Given the description of an element on the screen output the (x, y) to click on. 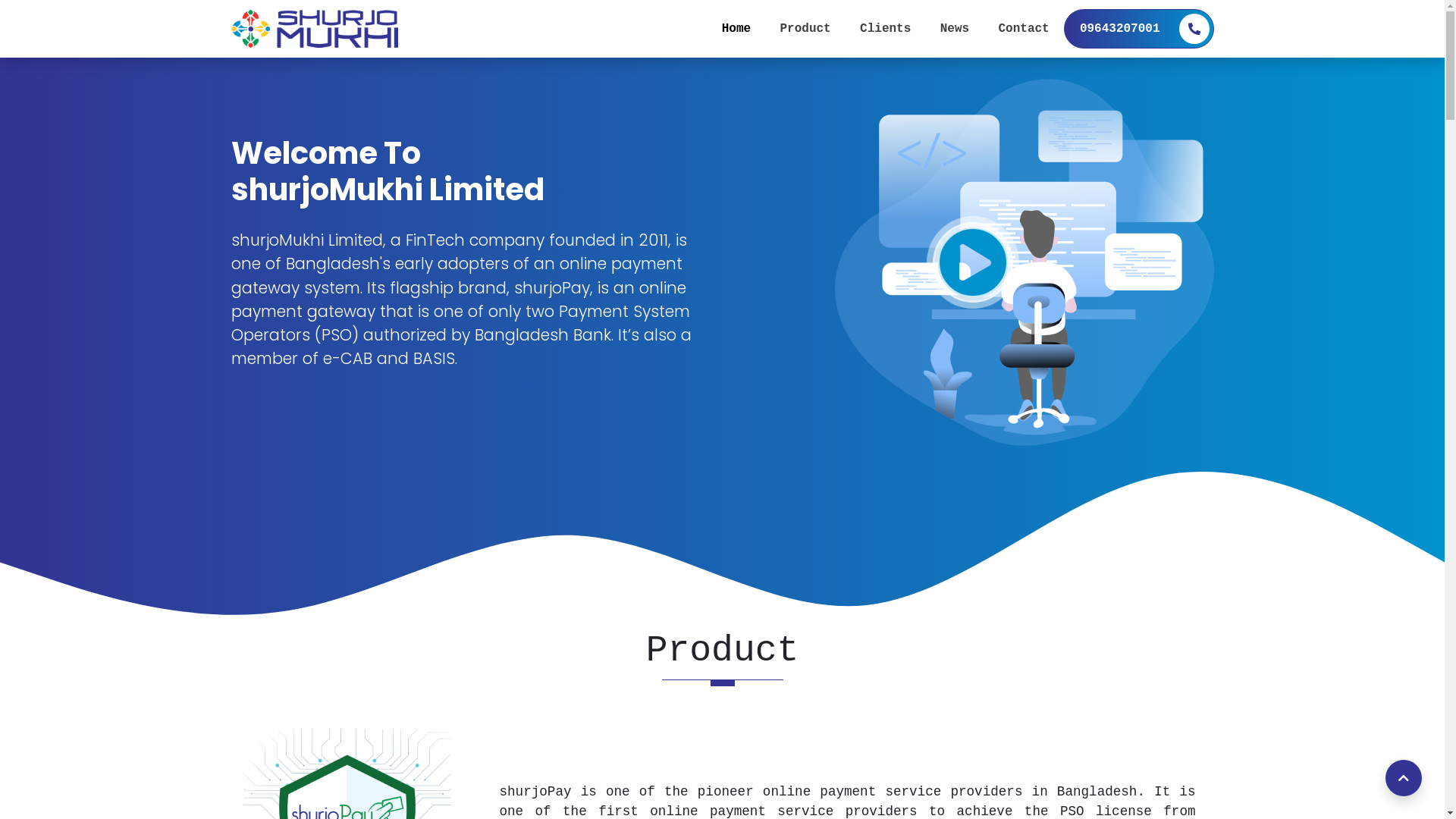
09643207001 Element type: text (1138, 29)
Clients Element type: text (884, 28)
Home Element type: text (735, 28)
Product Element type: text (804, 28)
Contact Element type: text (1022, 28)
News Element type: text (954, 28)
